Given the description of an element on the screen output the (x, y) to click on. 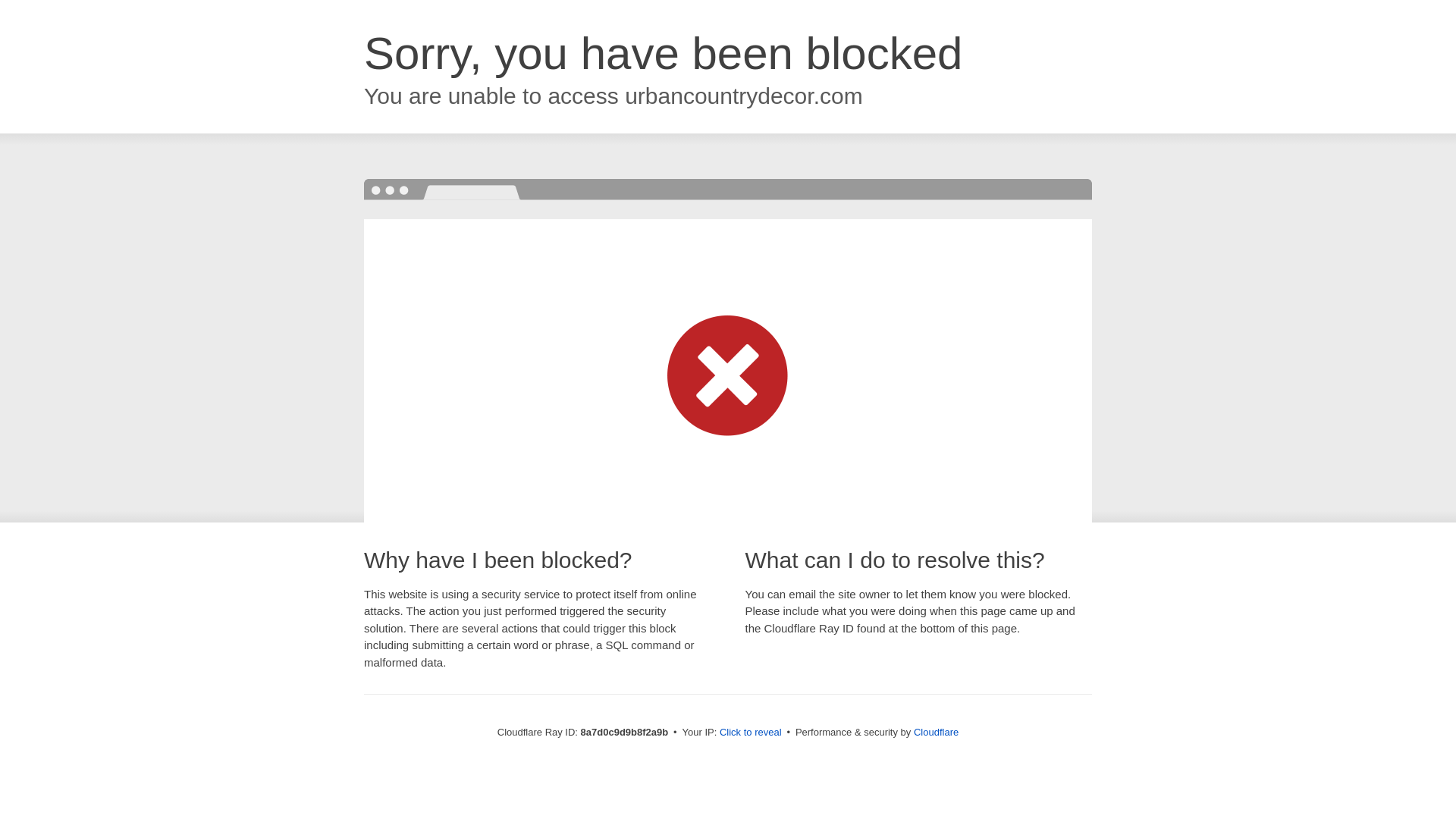
Click to reveal (750, 732)
Cloudflare (936, 731)
